Given the description of an element on the screen output the (x, y) to click on. 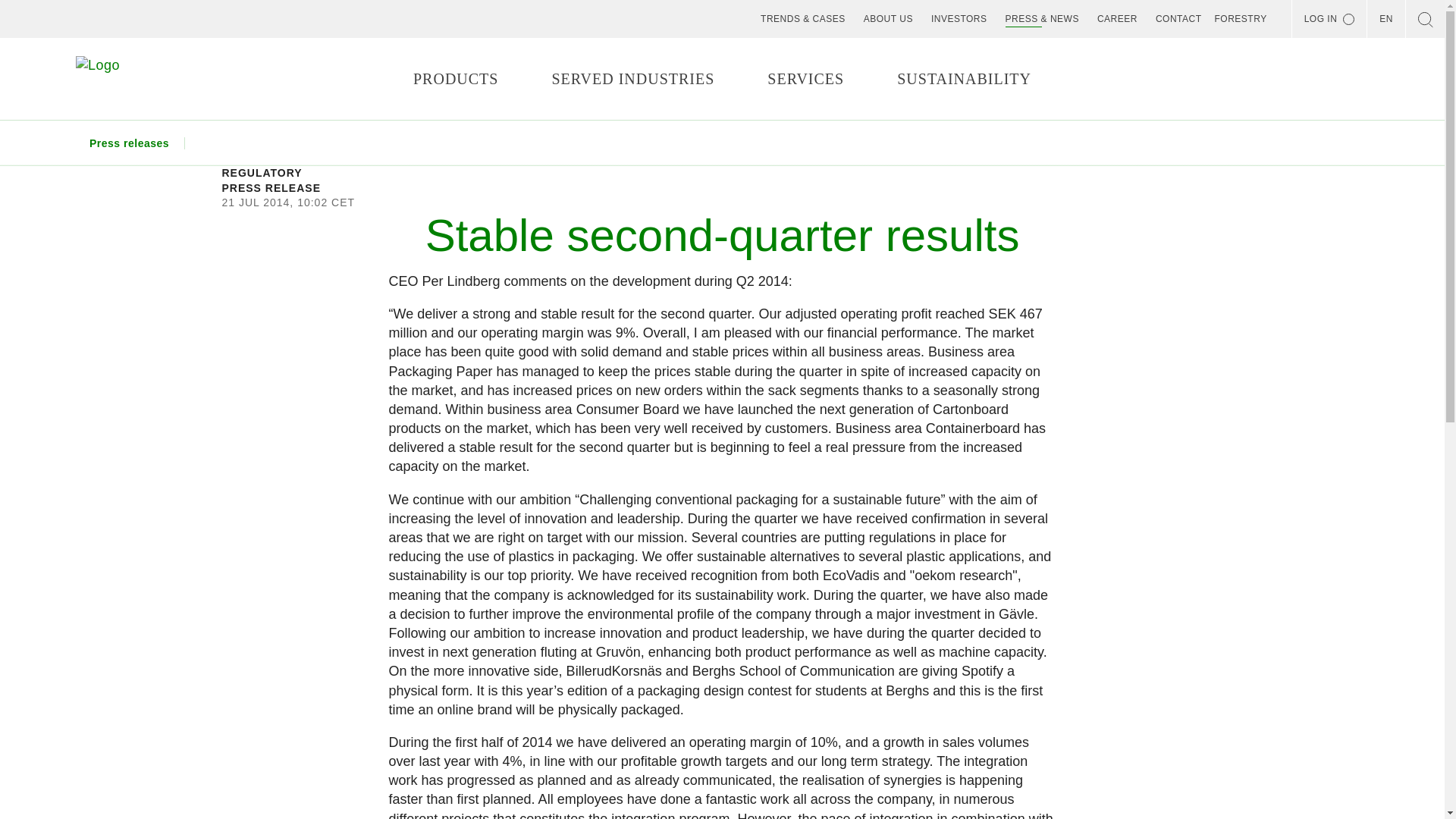
INVESTORS (958, 18)
FORESTRY (1241, 18)
CONTACT (1179, 18)
ABOUT US (887, 18)
CAREER (1117, 18)
Go to home link (121, 78)
PRODUCTS (455, 78)
